Given the description of an element on the screen output the (x, y) to click on. 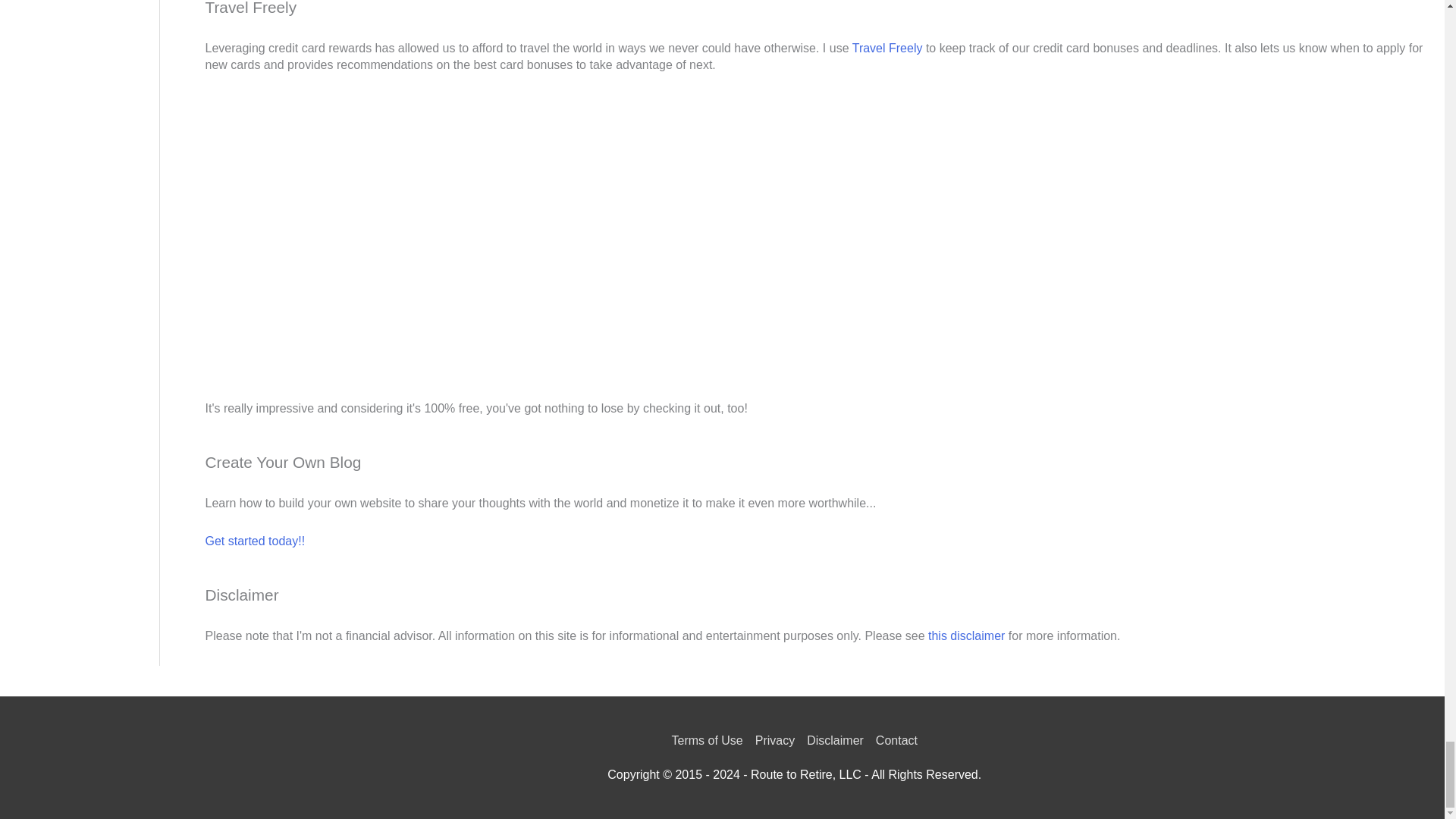
Travel Freely (887, 47)
Travel Freely (318, 235)
